Given the description of an element on the screen output the (x, y) to click on. 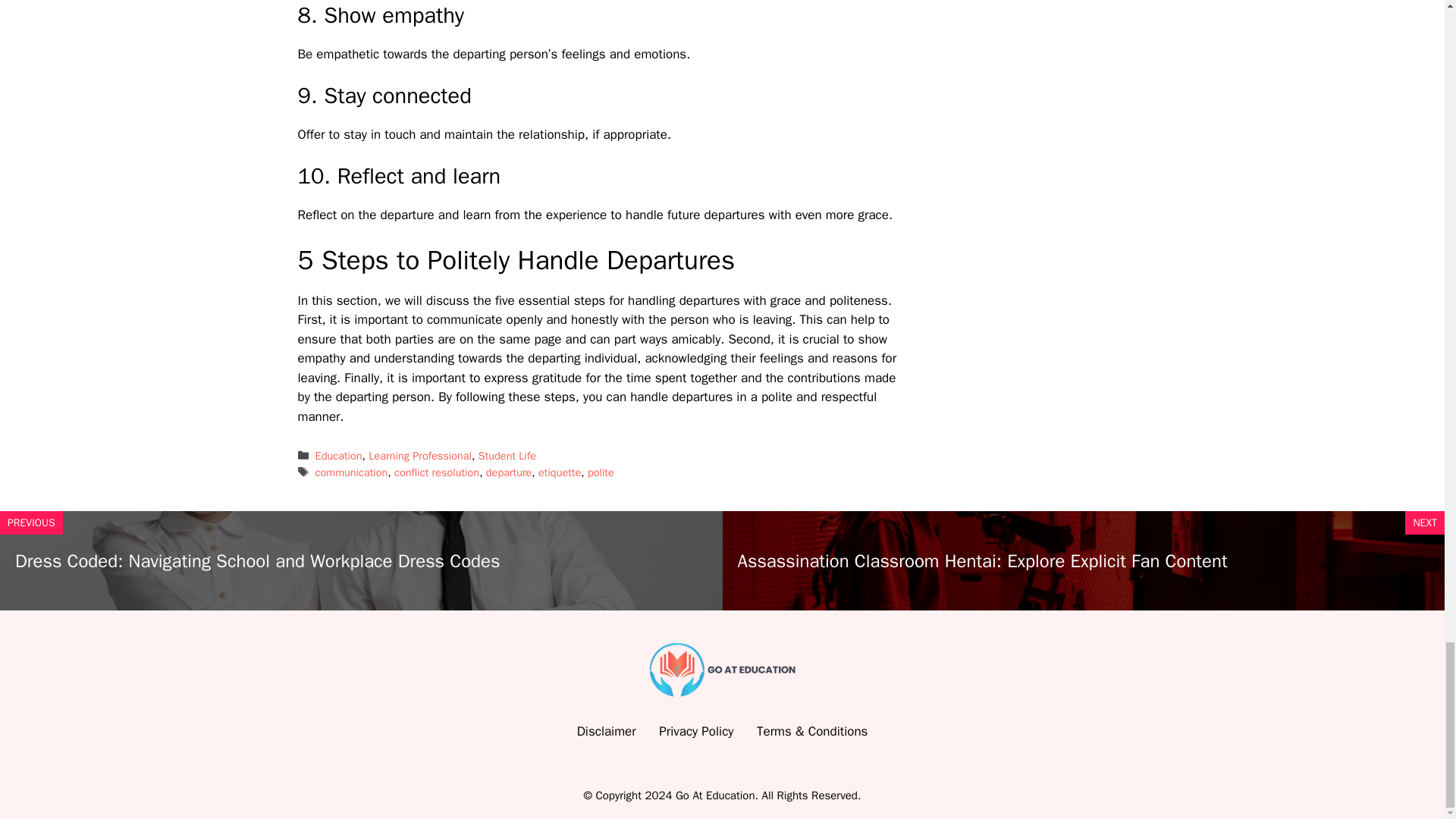
Student Life (507, 455)
etiquette (559, 472)
Go-At-Education (722, 669)
conflict resolution (436, 472)
Privacy Policy (696, 731)
departure (509, 472)
Assassination Classroom Hentai: Explore Explicit Fan Content (981, 560)
communication (351, 472)
Disclaimer (606, 731)
Dress Coded: Navigating School and Workplace Dress Codes (256, 560)
